Given the description of an element on the screen output the (x, y) to click on. 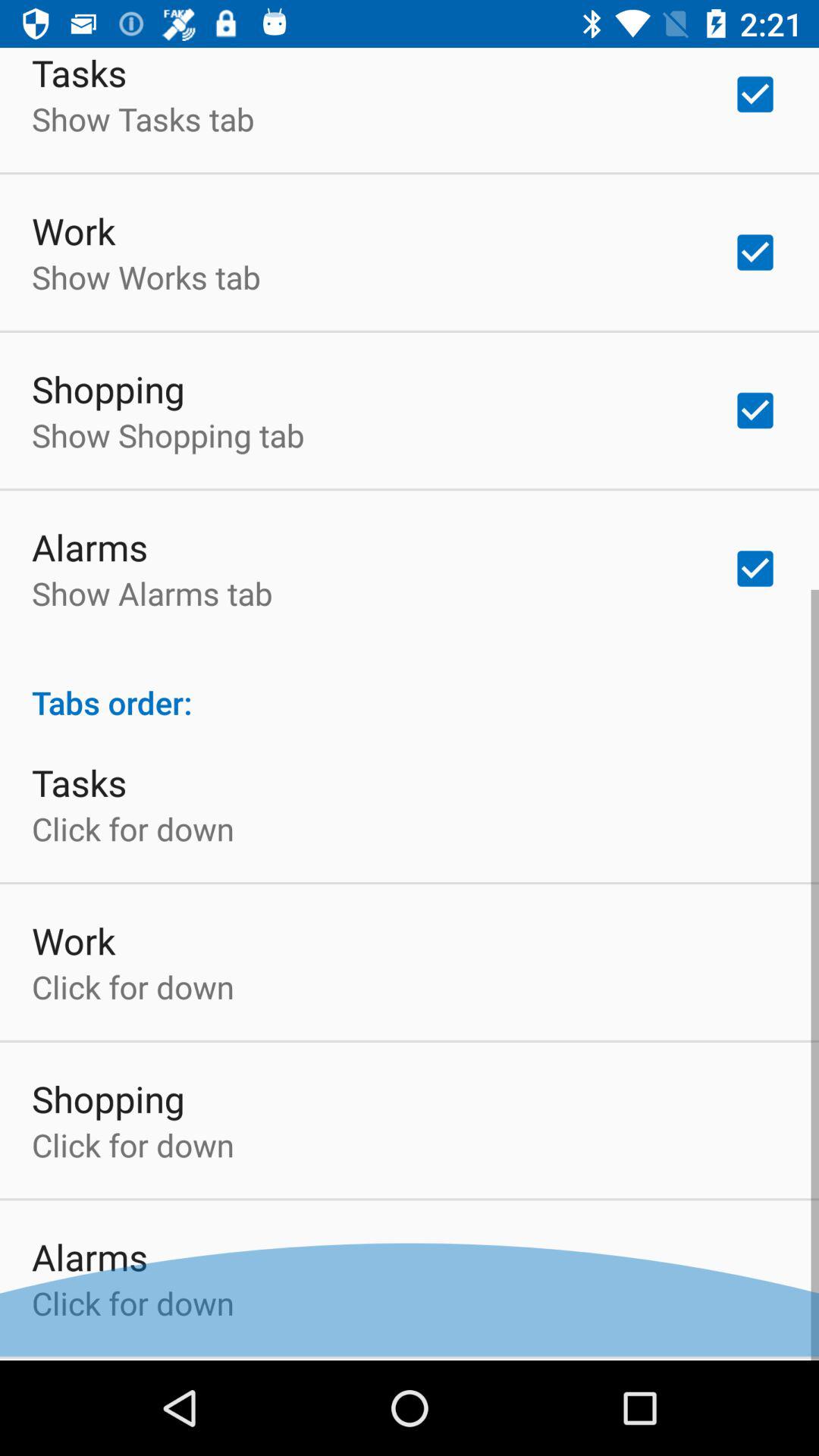
swipe to the tabs order: (409, 690)
